Given the description of an element on the screen output the (x, y) to click on. 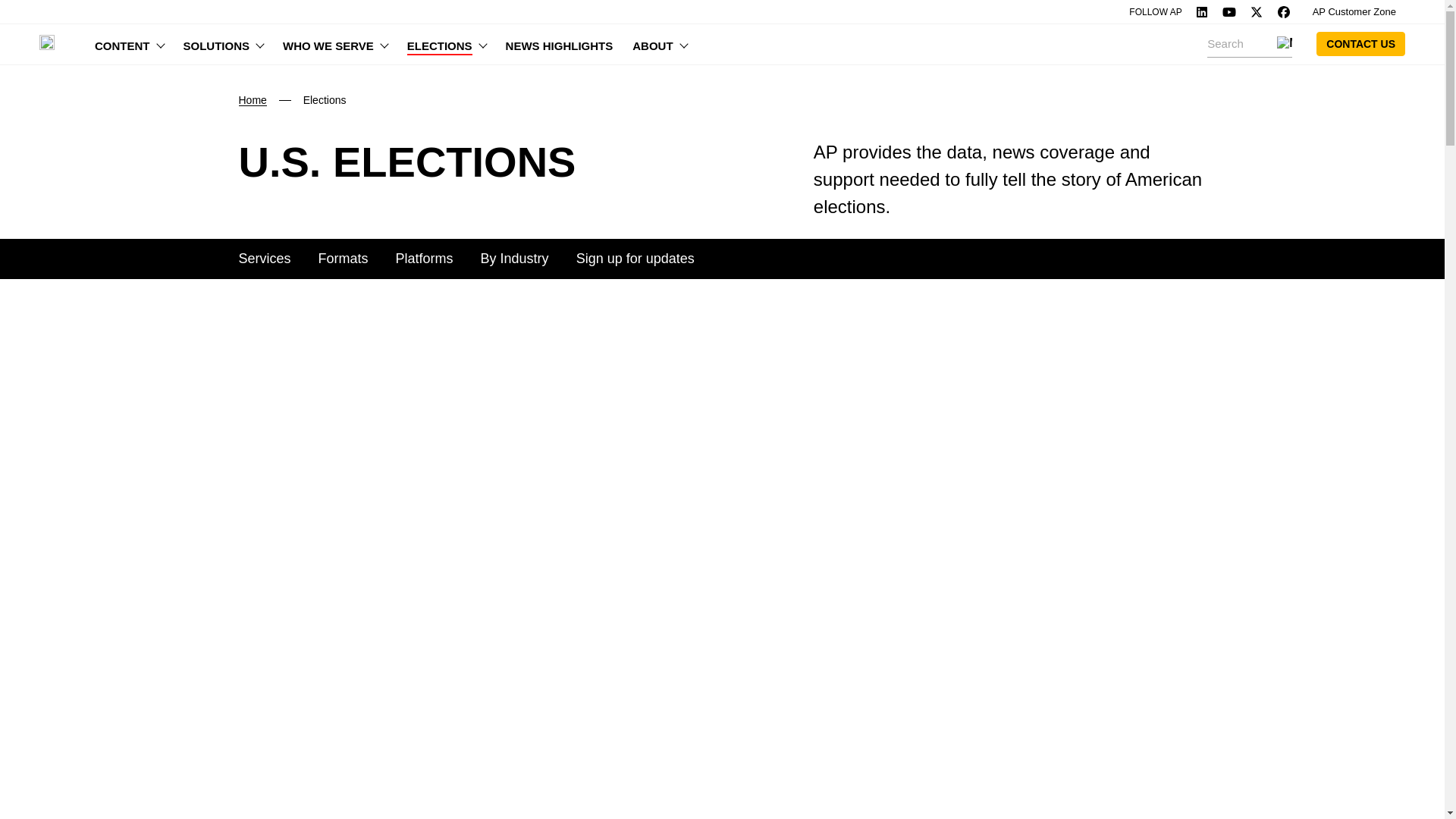
AP Customer Zone (1354, 11)
SOLUTIONS (223, 44)
CONTENT (128, 44)
Youtube (1228, 11)
Twitter (1256, 11)
Linkedin (1201, 11)
Facebook (1283, 11)
